Given the description of an element on the screen output the (x, y) to click on. 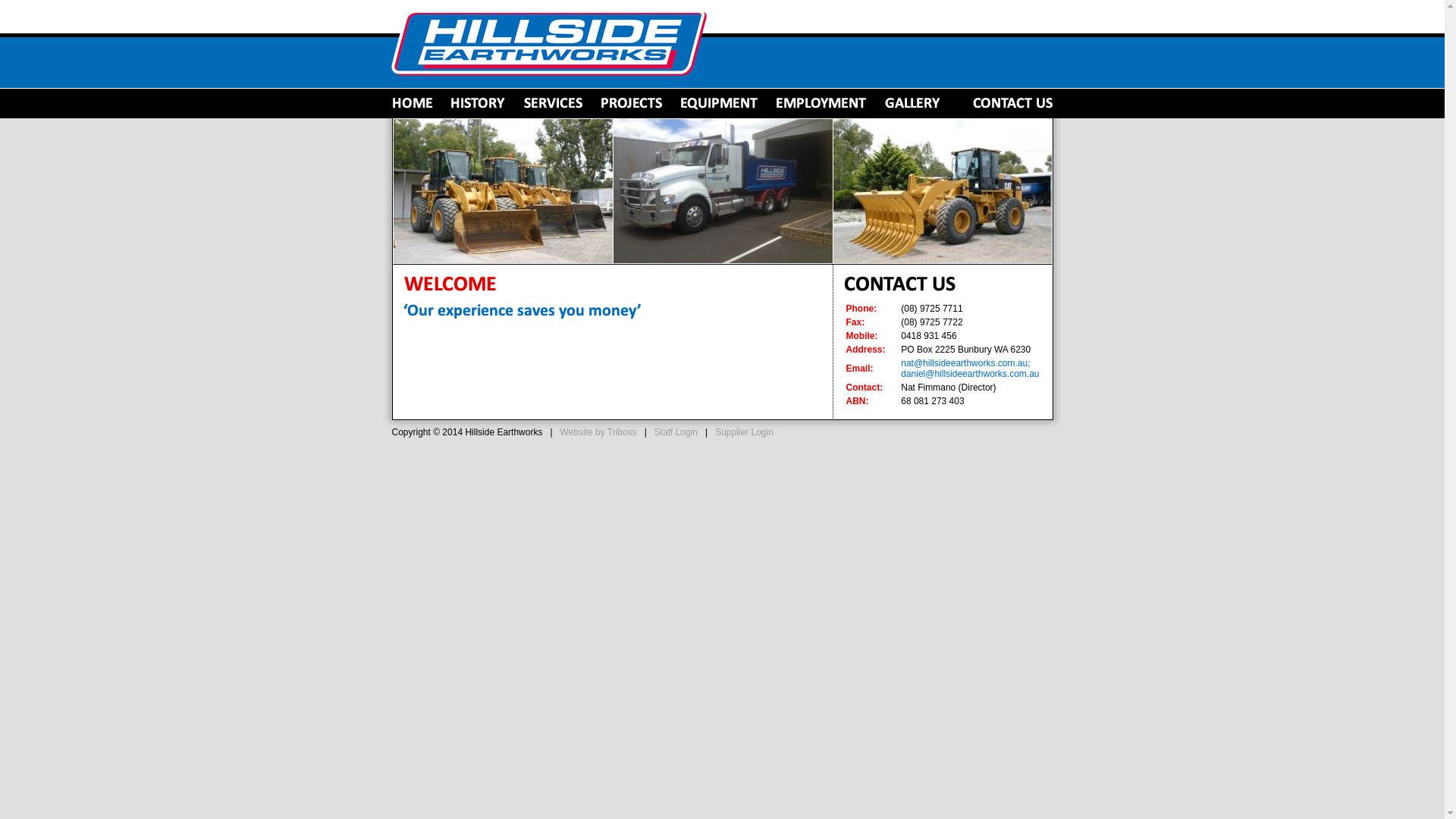
Supplier Login Element type: text (744, 431)
Staff Login Element type: text (675, 431)
Website by Triboss Element type: text (598, 431)
